Given the description of an element on the screen output the (x, y) to click on. 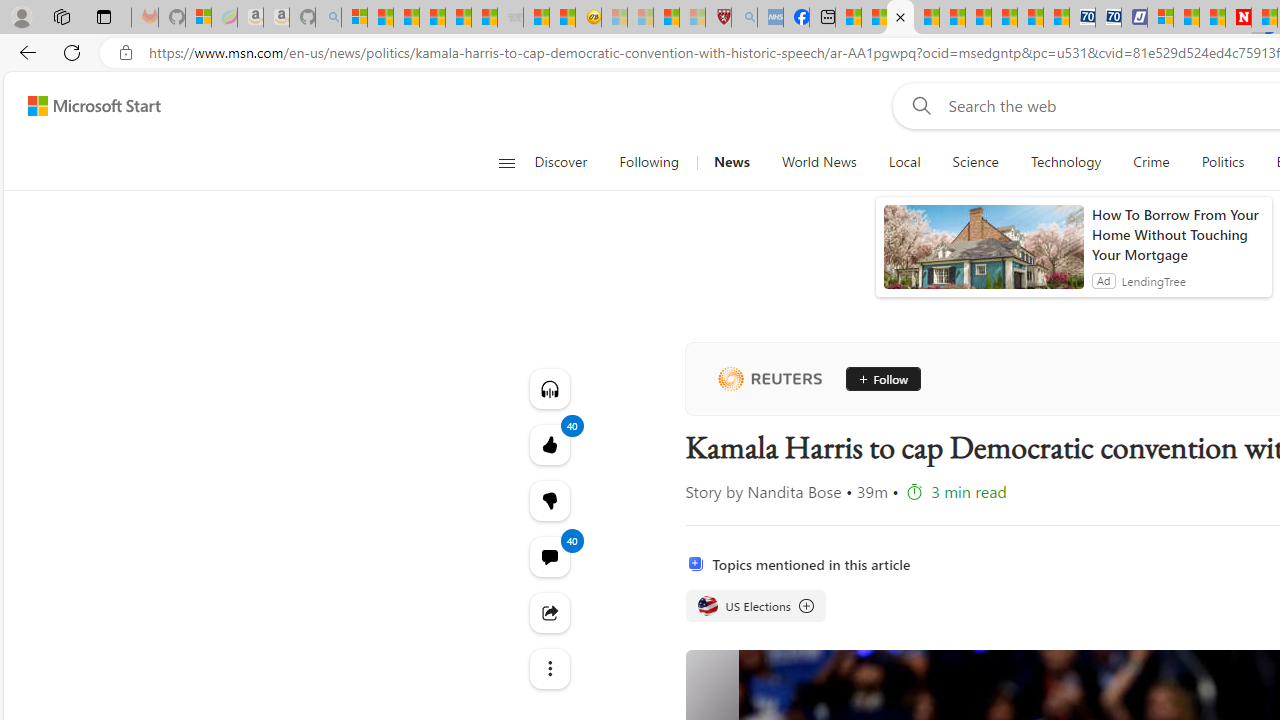
Web search (917, 105)
list of asthma inhalers uk - Search - Sleeping (744, 17)
Ad (1103, 280)
Skip to footer (82, 105)
Crime (1151, 162)
US Elections US Elections US Elections (754, 605)
World News (818, 162)
Crime (1150, 162)
40 (548, 500)
News (731, 162)
